Given the description of an element on the screen output the (x, y) to click on. 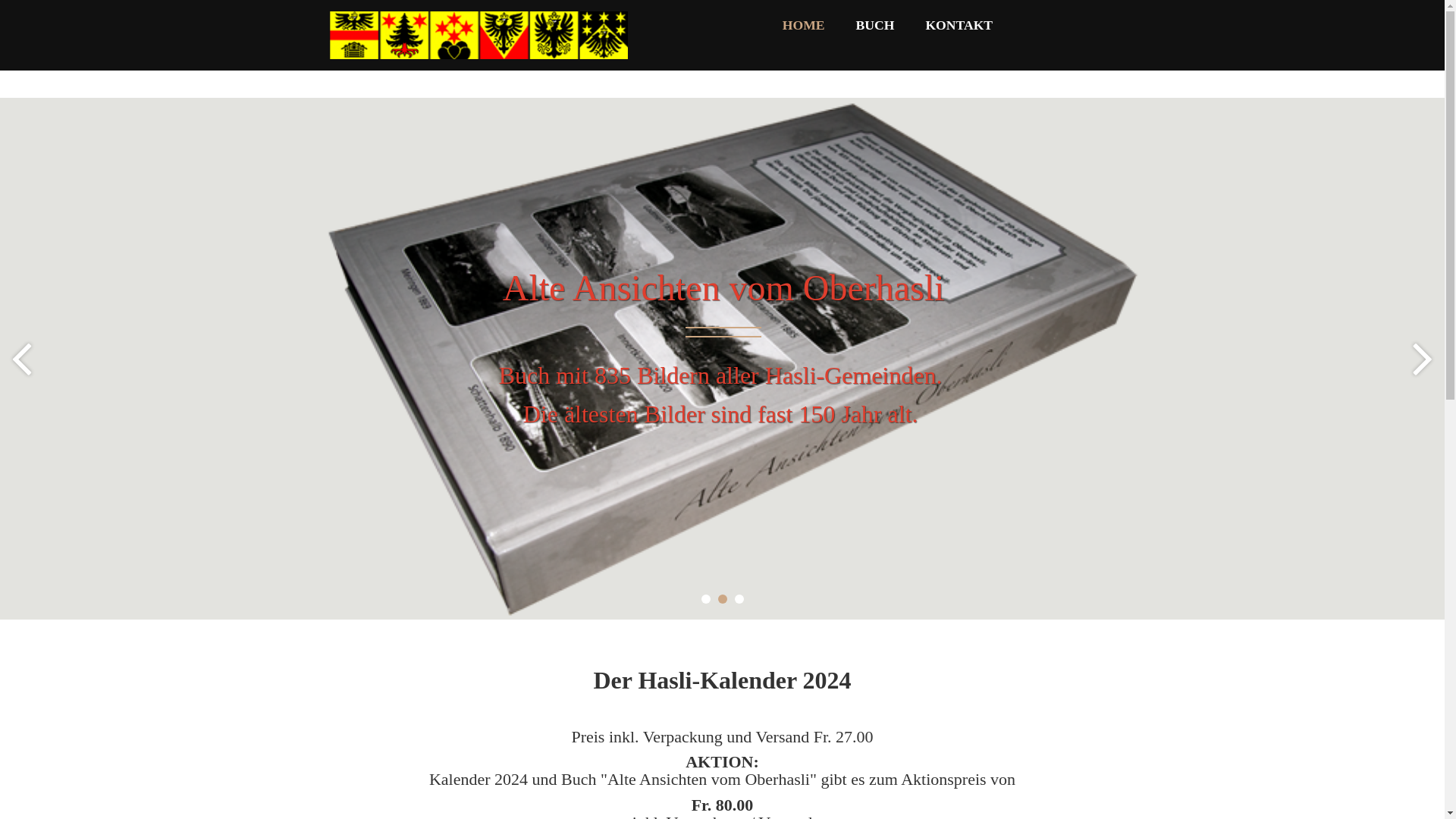
HOME Element type: text (803, 25)
KONTAKT Element type: text (958, 25)
BUCH Element type: text (875, 25)
